Given the description of an element on the screen output the (x, y) to click on. 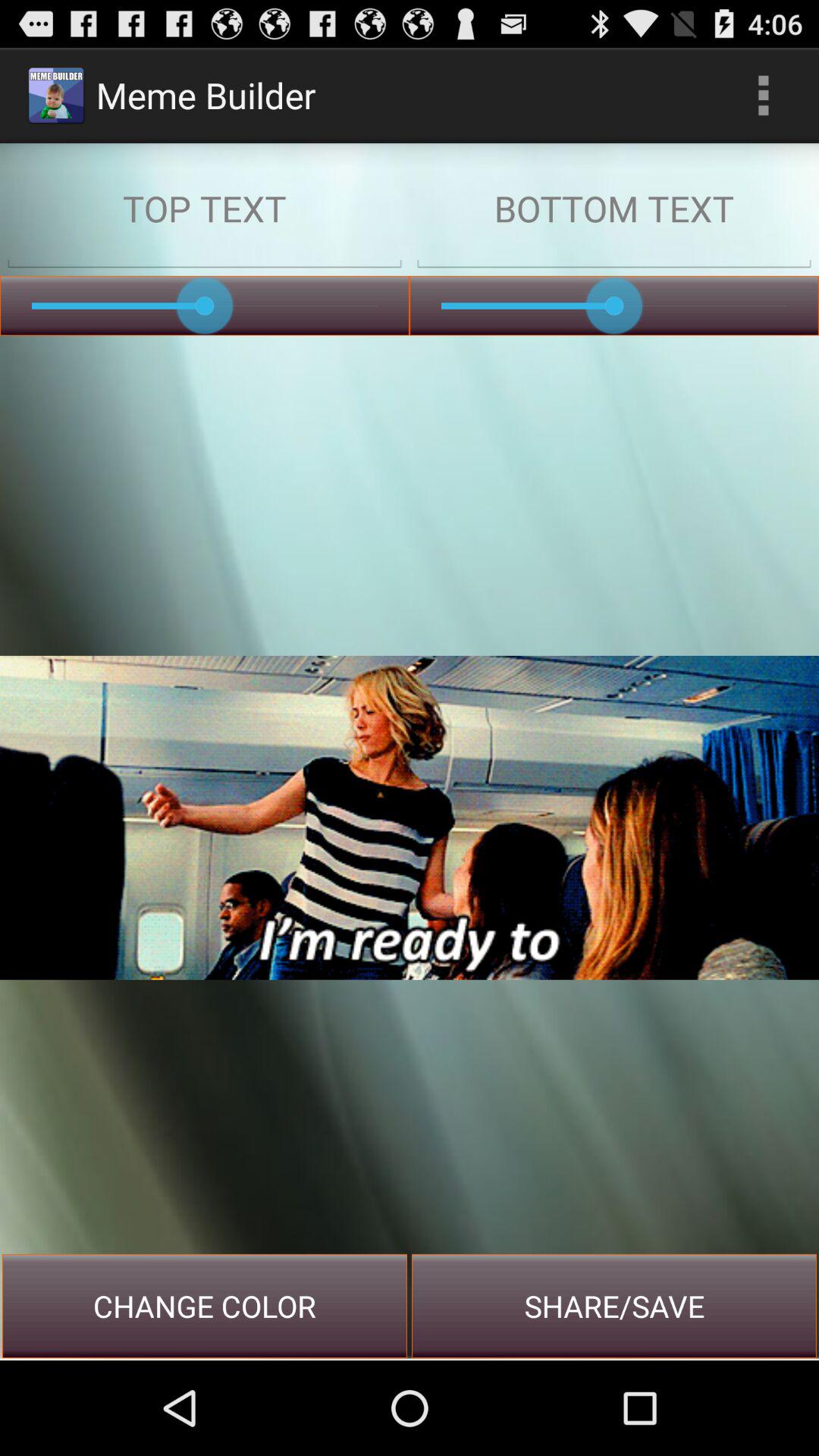
jump until change color (204, 1306)
